Given the description of an element on the screen output the (x, y) to click on. 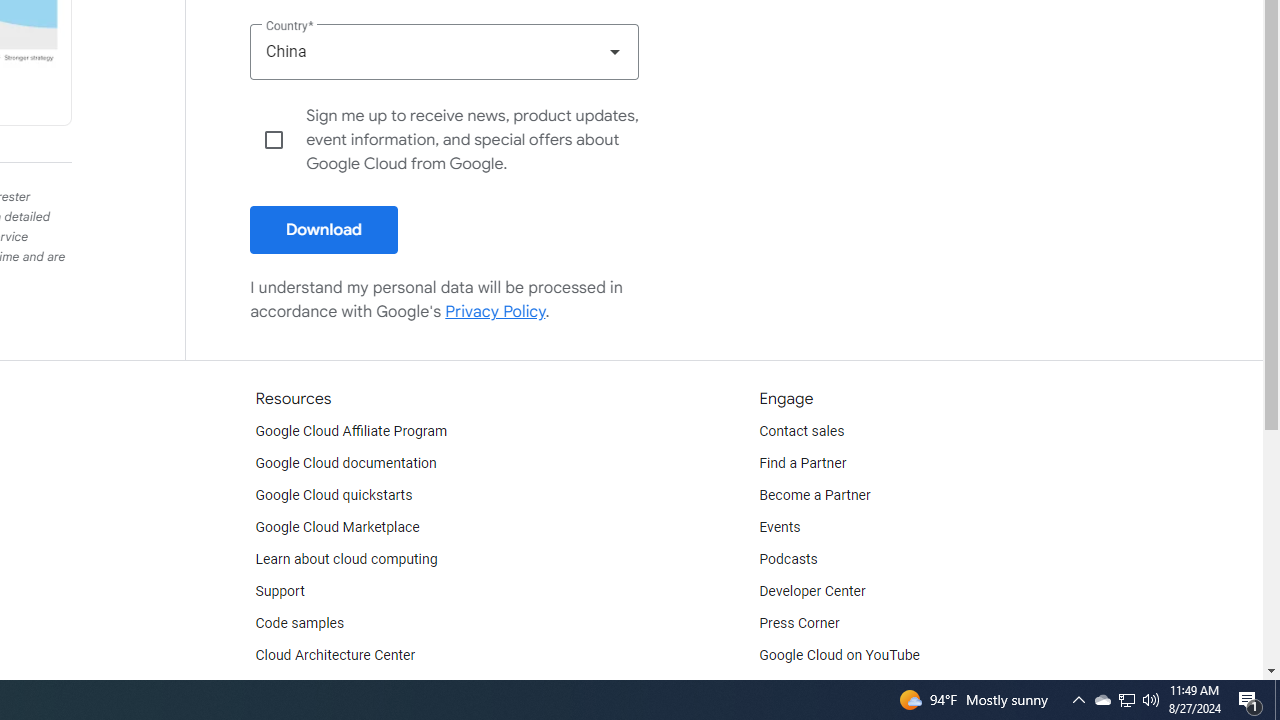
Support (279, 591)
Google Cloud on YouTube (839, 655)
Code samples (299, 623)
Learn about cloud computing (345, 560)
Download (324, 229)
Privacy Policy (495, 311)
Developer Center (812, 591)
Google Cloud documentation (345, 463)
Press Corner (799, 623)
Google Cloud quickstarts (333, 495)
Events (780, 527)
Become a Partner (814, 495)
Find a Partner (803, 463)
Podcasts (788, 560)
